Given the description of an element on the screen output the (x, y) to click on. 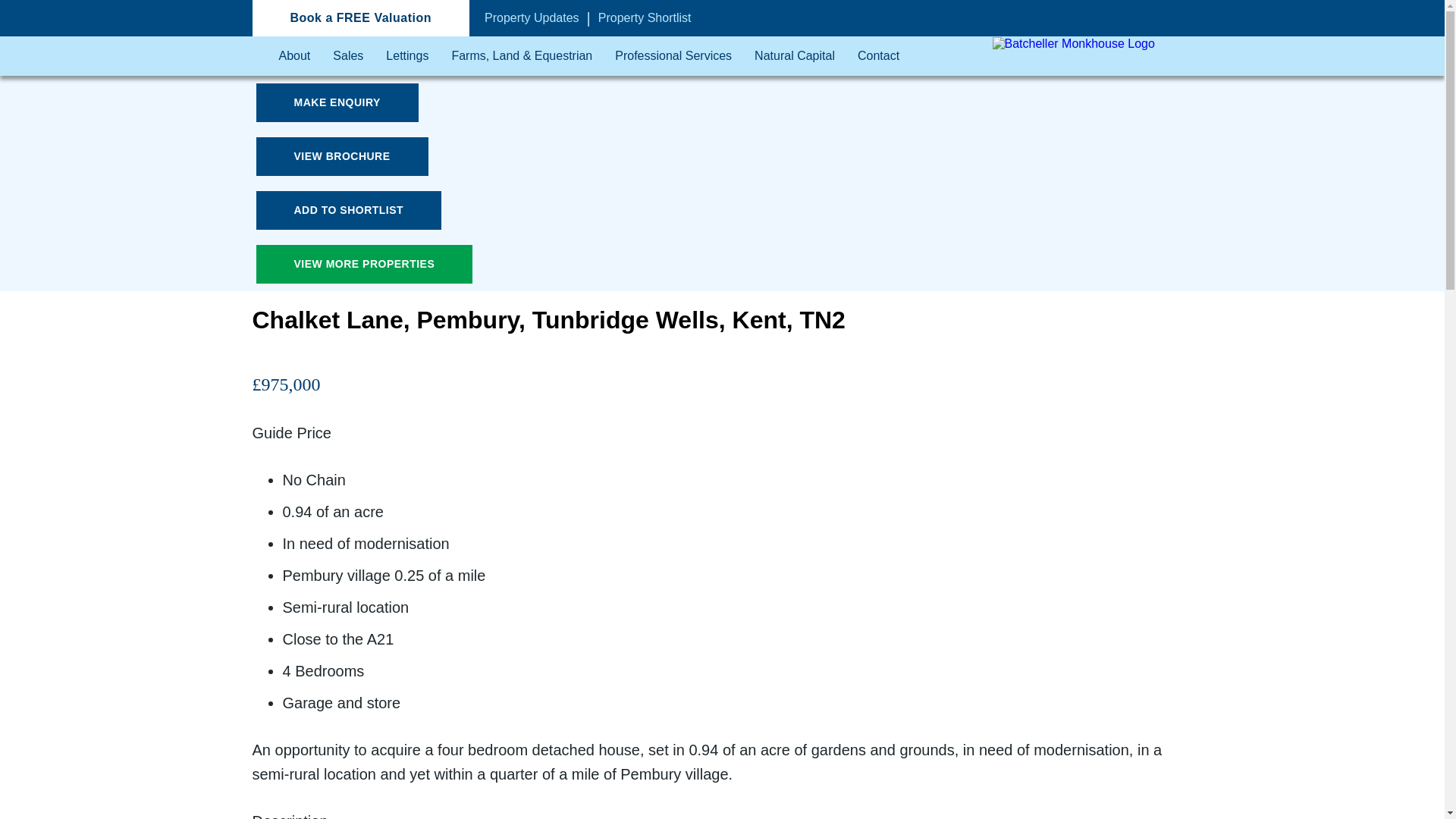
Professional Services (673, 56)
Sales (347, 56)
Lettings (406, 56)
About (295, 56)
Book a FREE Valuation (359, 18)
Property Updates (531, 17)
Property Shortlist (644, 17)
